Given the description of an element on the screen output the (x, y) to click on. 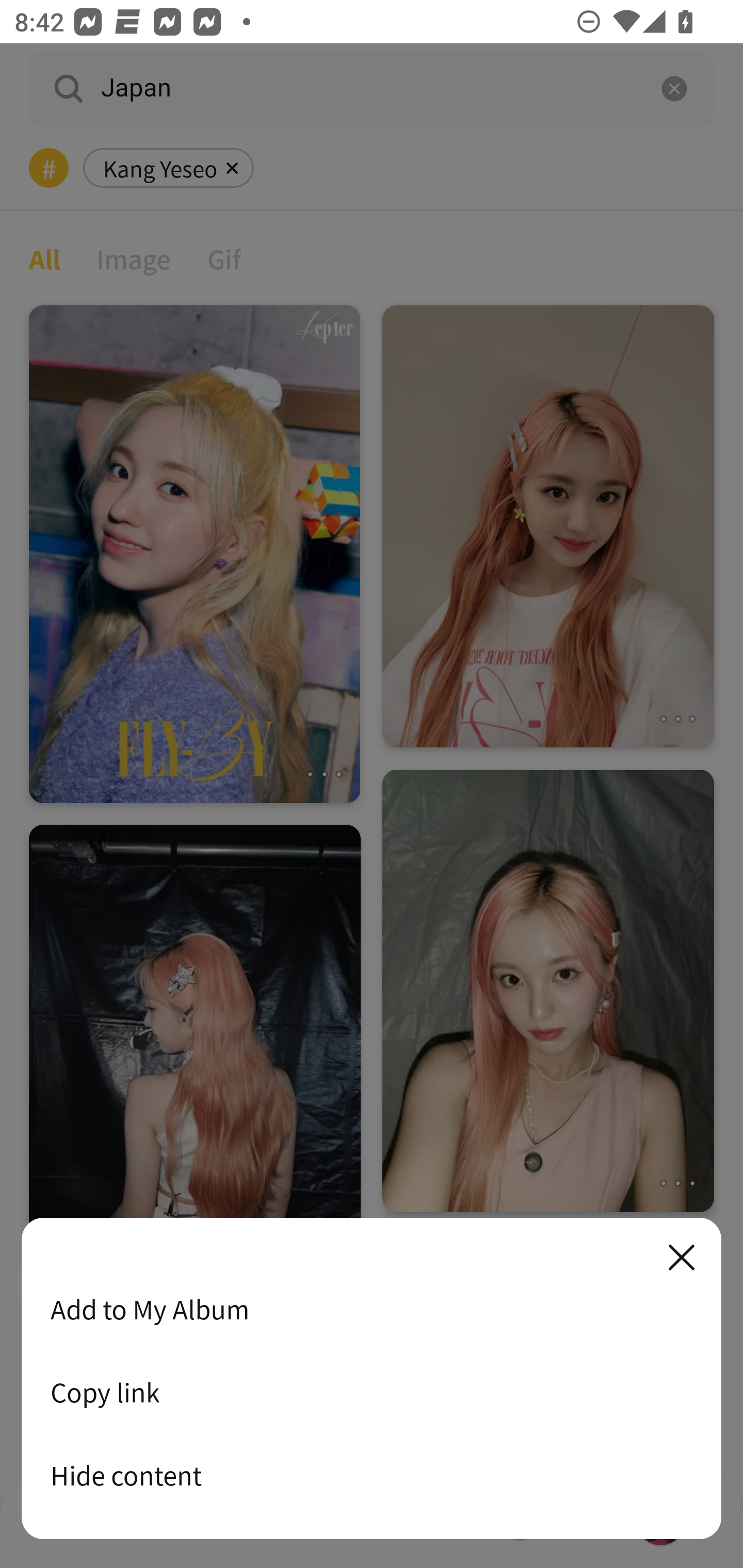
Add to My Album Copy link Hide content (371, 1378)
Add to My Album (371, 1308)
Copy link (371, 1391)
Hide content (371, 1474)
